Given the description of an element on the screen output the (x, y) to click on. 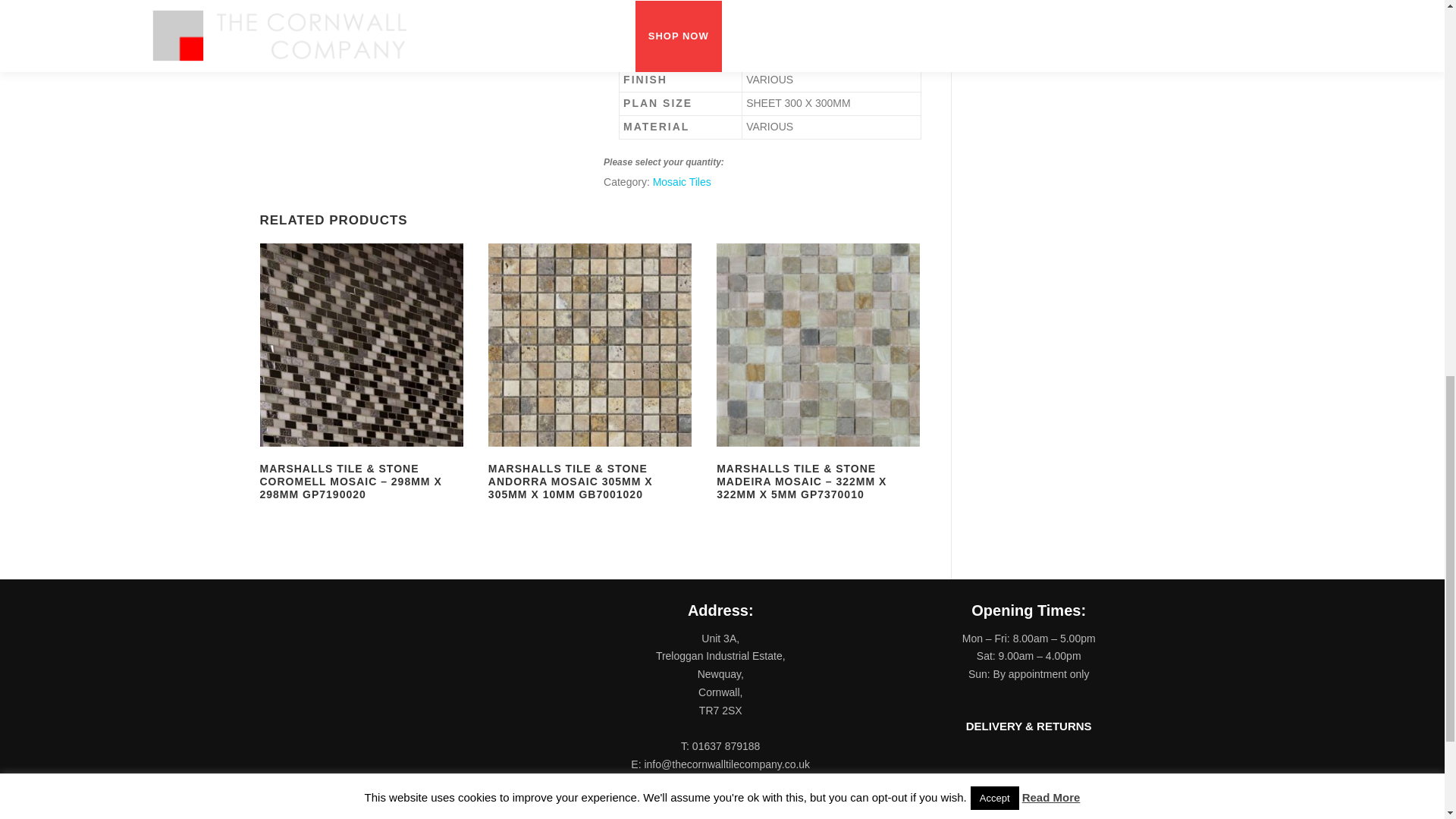
Mosaic Tiles (681, 182)
